Given the description of an element on the screen output the (x, y) to click on. 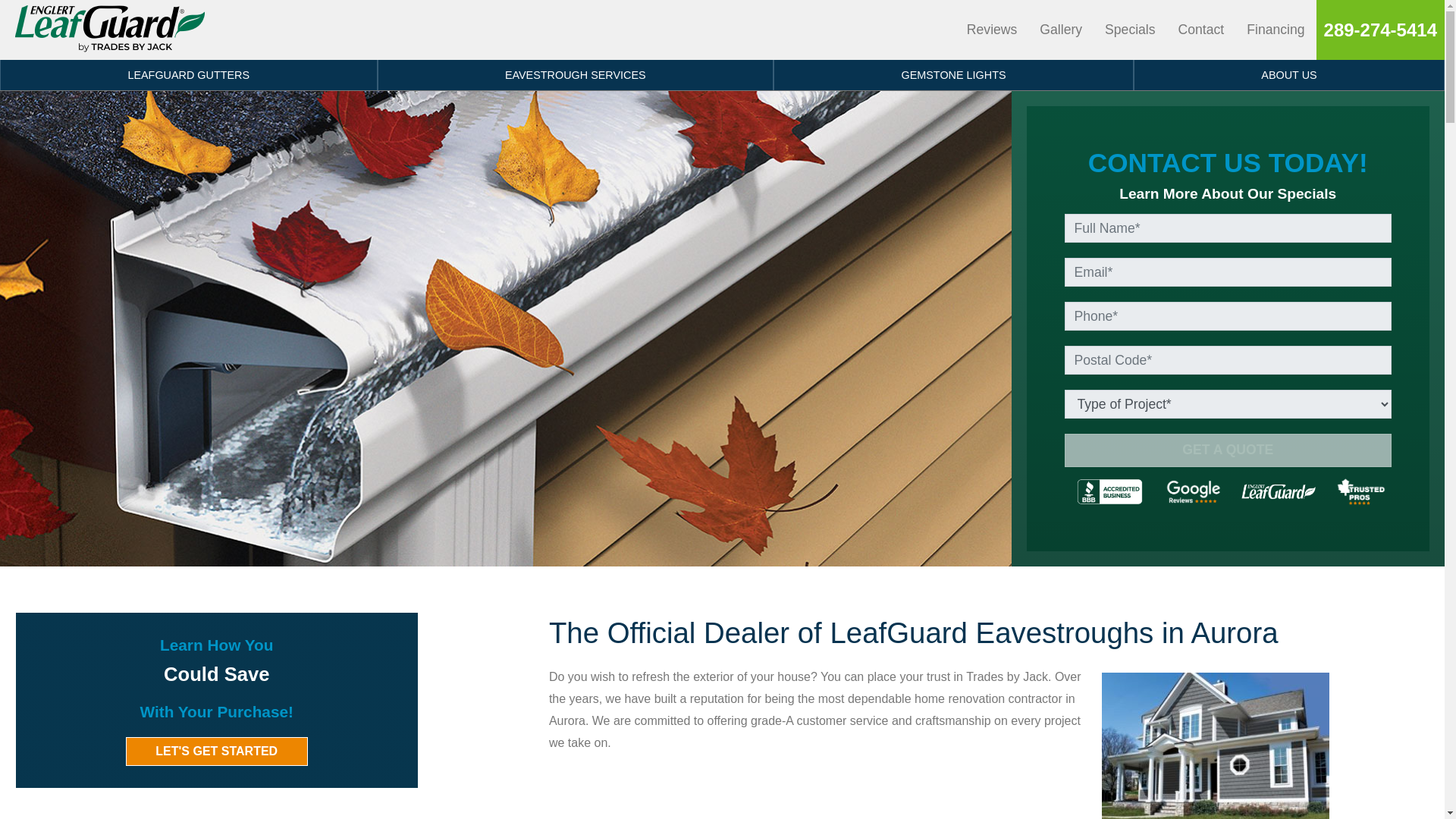
Contact (1201, 30)
GEMSTONE LIGHTS (953, 74)
Gallery (1060, 30)
LET'S GET STARTED (216, 751)
Reviews (991, 30)
EAVESTROUGH SERVICES (575, 74)
Financing (1275, 30)
Get a Quote (1227, 450)
Trades by Jack (109, 29)
LEAFGUARD GUTTERS (188, 74)
Get a Quote (1227, 450)
Specials (1130, 30)
